Given the description of an element on the screen output the (x, y) to click on. 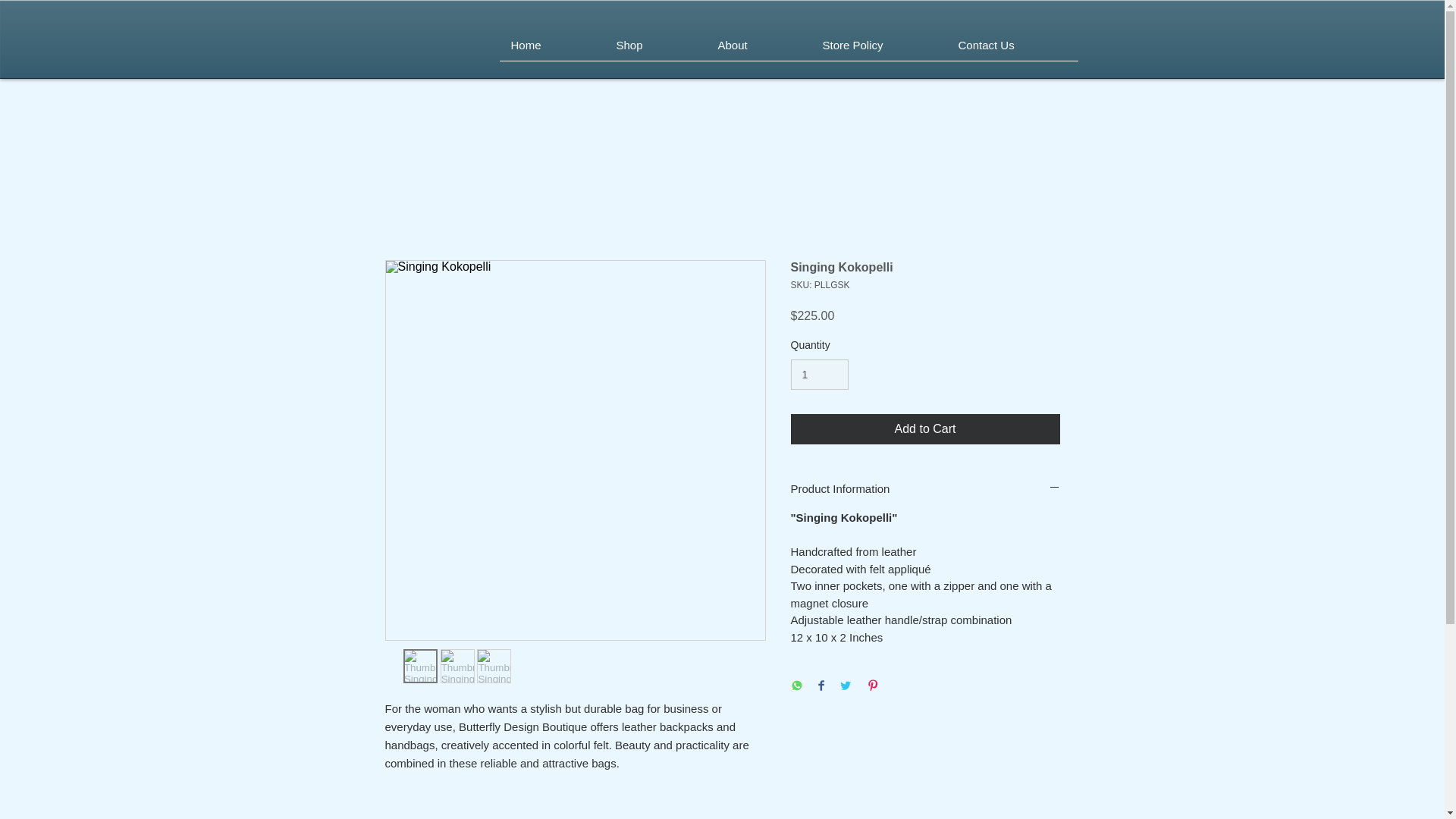
Contact Us (1011, 49)
About (758, 49)
Store Policy (878, 49)
Add to Cart (924, 429)
1 (818, 374)
Home (551, 49)
Product Information (924, 488)
